Given the description of an element on the screen output the (x, y) to click on. 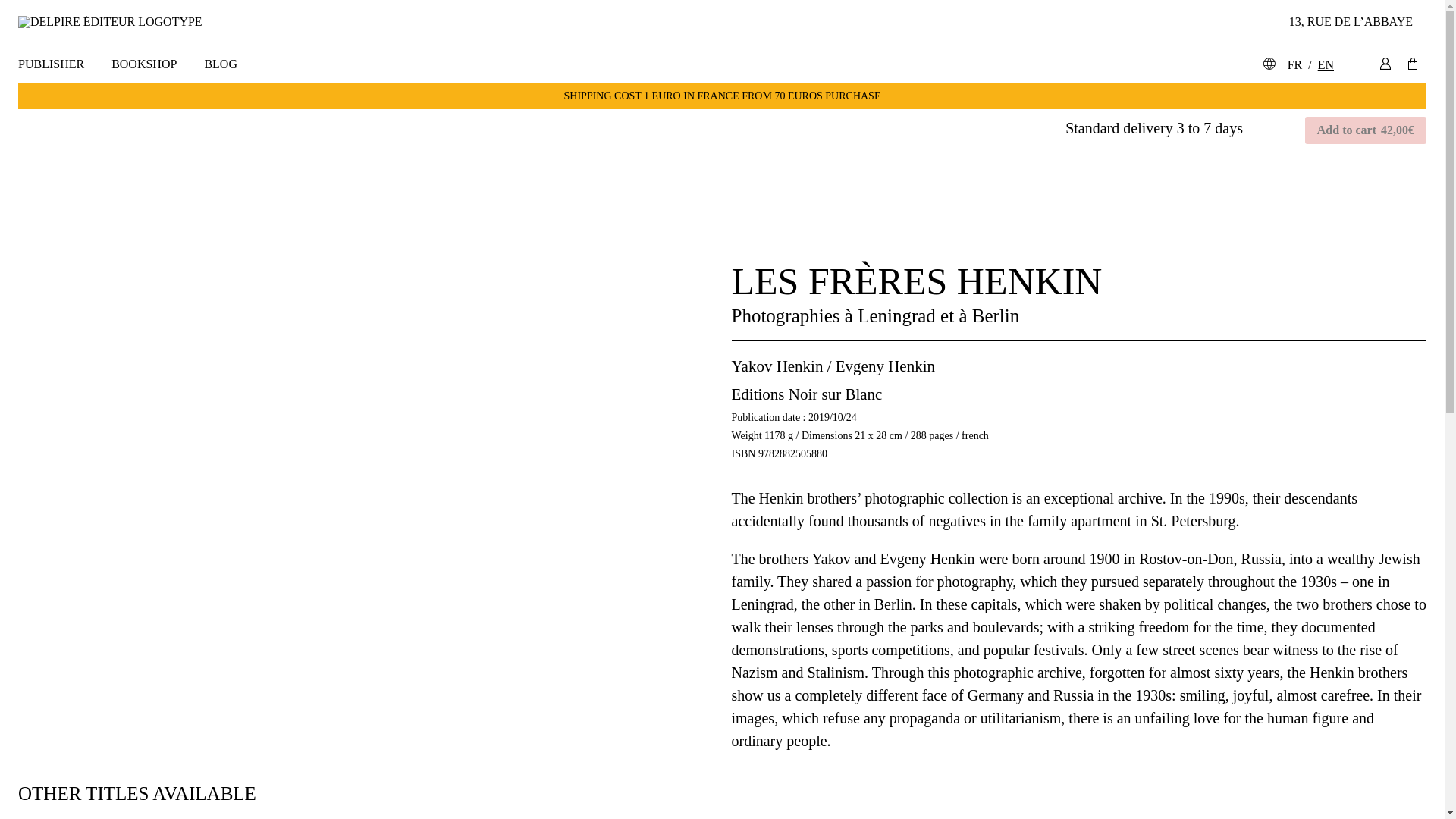
BLOG (220, 63)
BOOKSHOP (143, 63)
EN (1325, 63)
PUBLISHER (57, 63)
FR (1295, 63)
Editions Noir sur Blanc (806, 393)
